Given the description of an element on the screen output the (x, y) to click on. 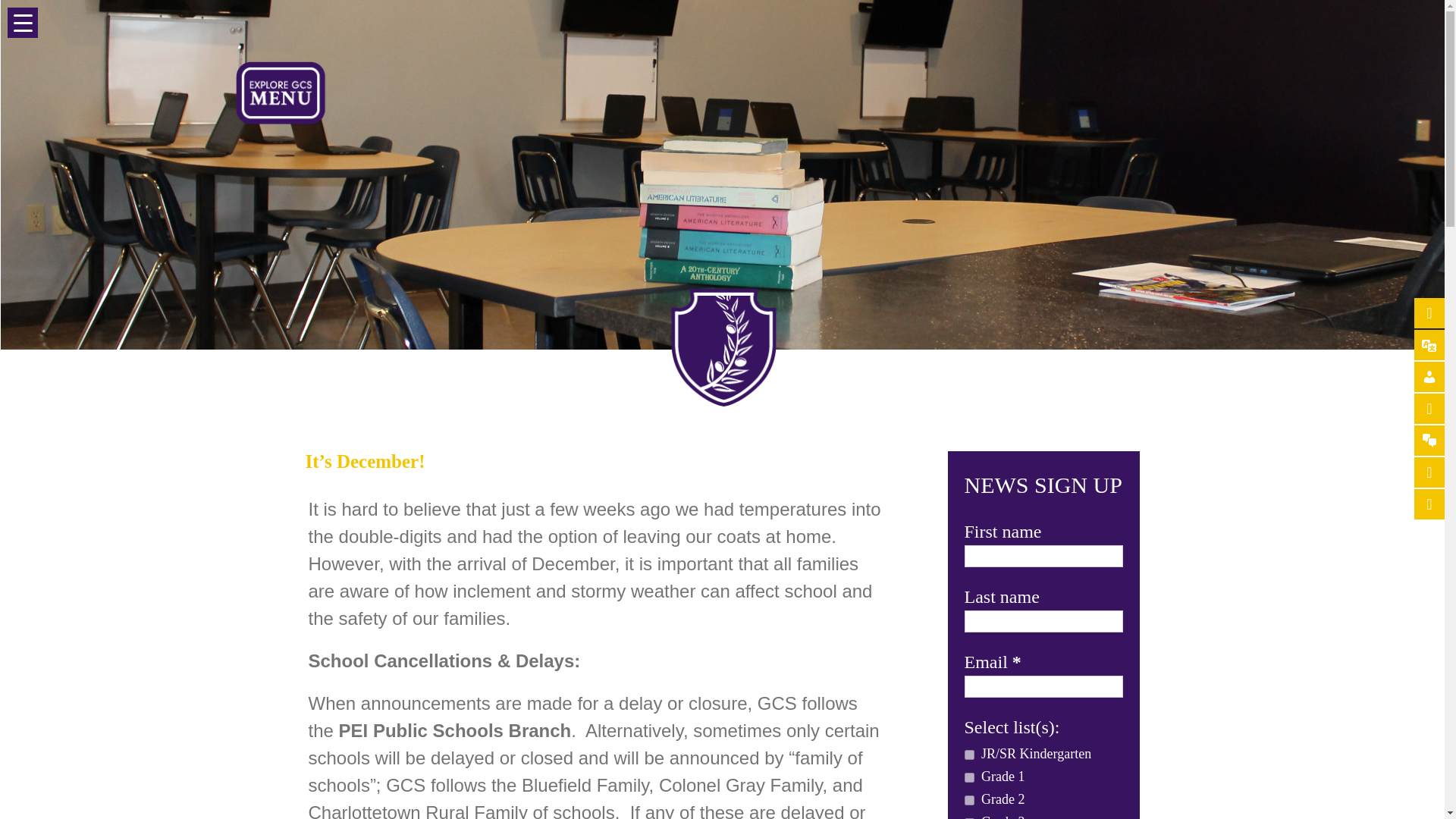
Last name (1042, 621)
Email (1042, 686)
3 (968, 800)
7 (968, 755)
9 (968, 777)
First name (1042, 556)
